Given the description of an element on the screen output the (x, y) to click on. 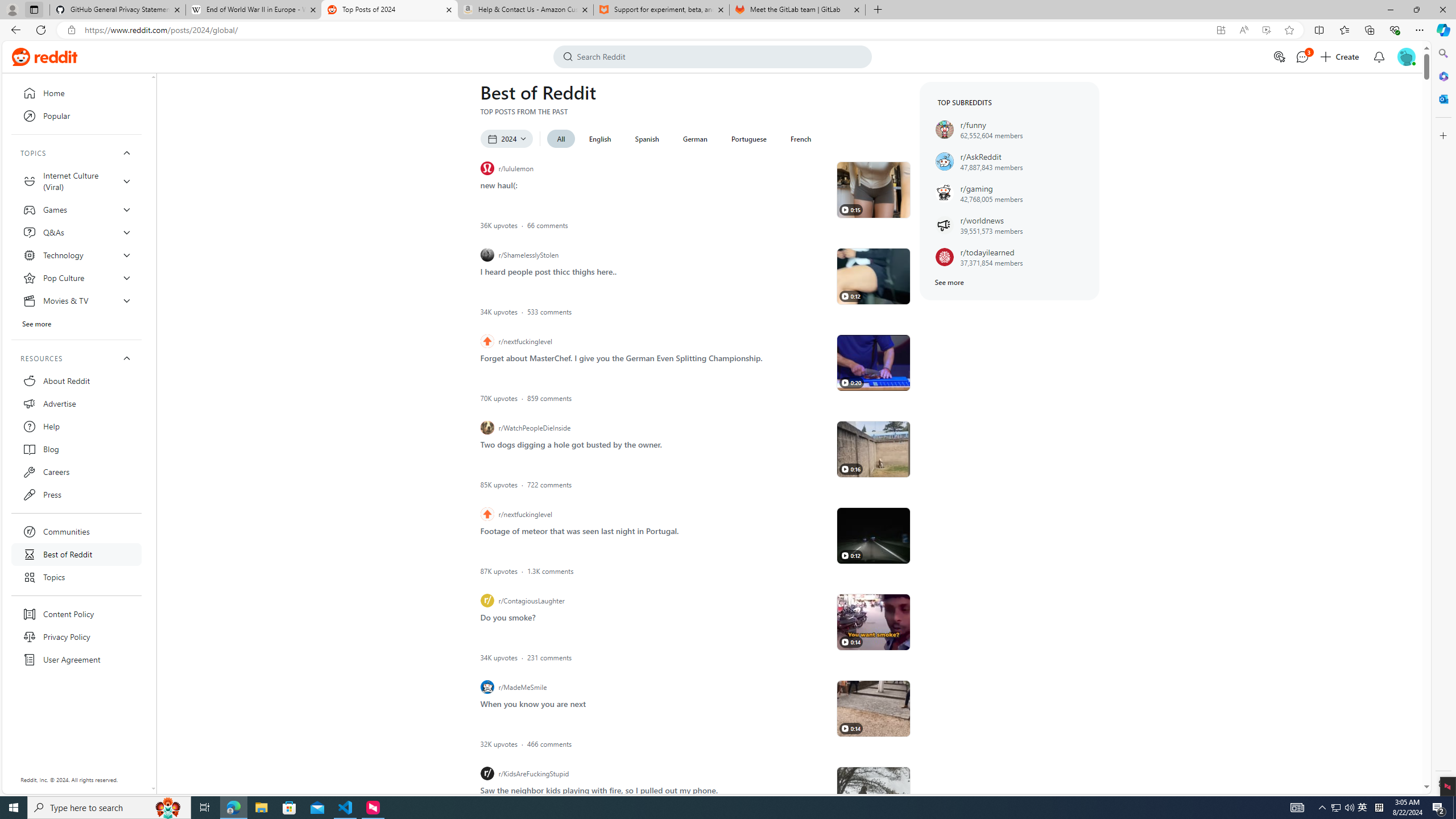
r/worldnews 39,551,573 members (1009, 224)
Press (76, 494)
r/ContagiousLaughter - Do you smoke? (873, 622)
User Agreement (76, 659)
Create Create post (1340, 56)
Top Posts of 2024 (390, 9)
Q&As (76, 232)
Content Policy (76, 613)
Help & Contact Us - Amazon Customer Service - Sleeping (525, 9)
All (561, 138)
r/ShamelesslyStolen icon (486, 254)
r/funny 62,552,604 members (1009, 129)
User Avatar (1405, 56)
